Given the description of an element on the screen output the (x, y) to click on. 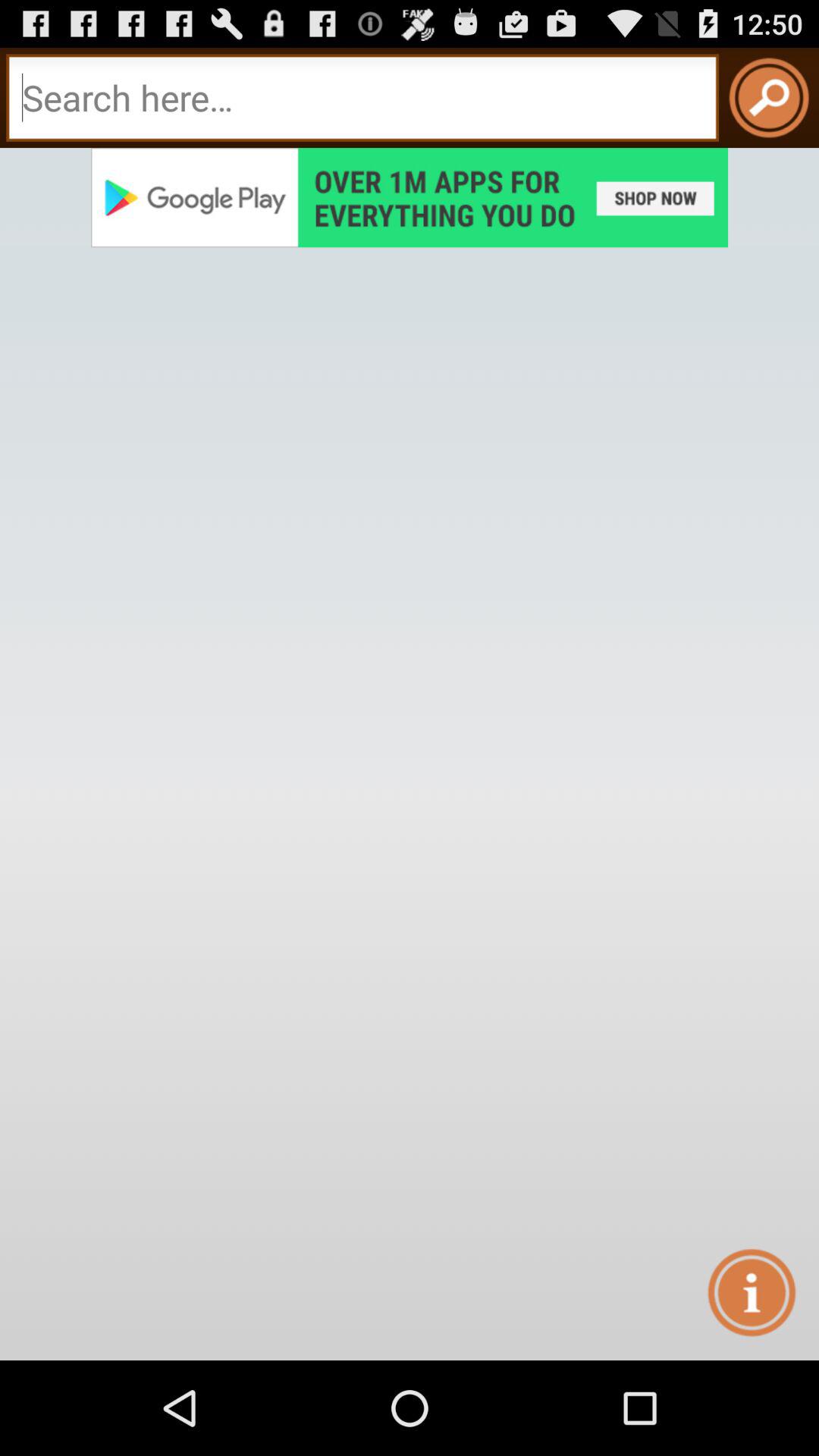
information (751, 1292)
